Given the description of an element on the screen output the (x, y) to click on. 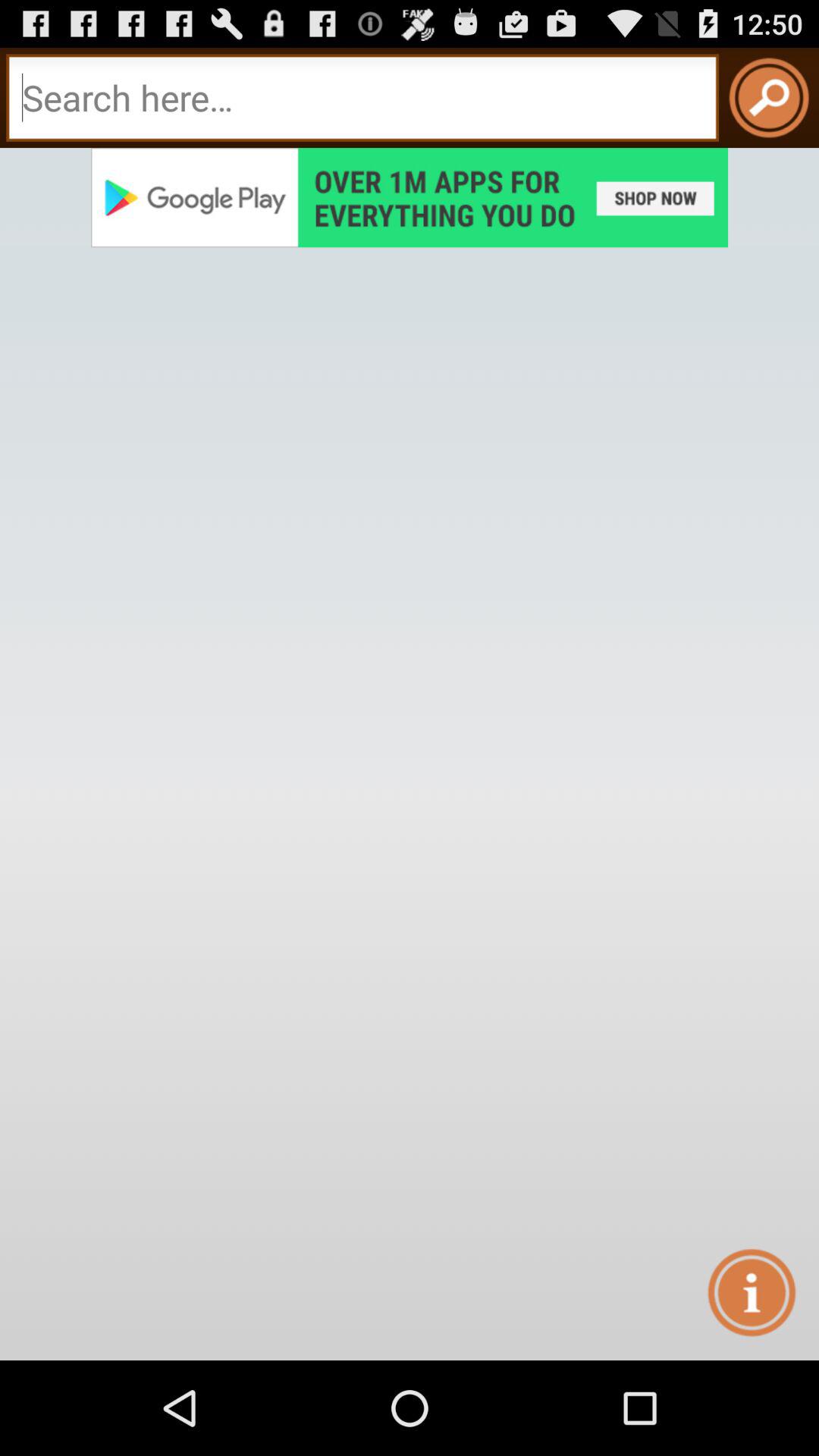
information (751, 1292)
